Given the description of an element on the screen output the (x, y) to click on. 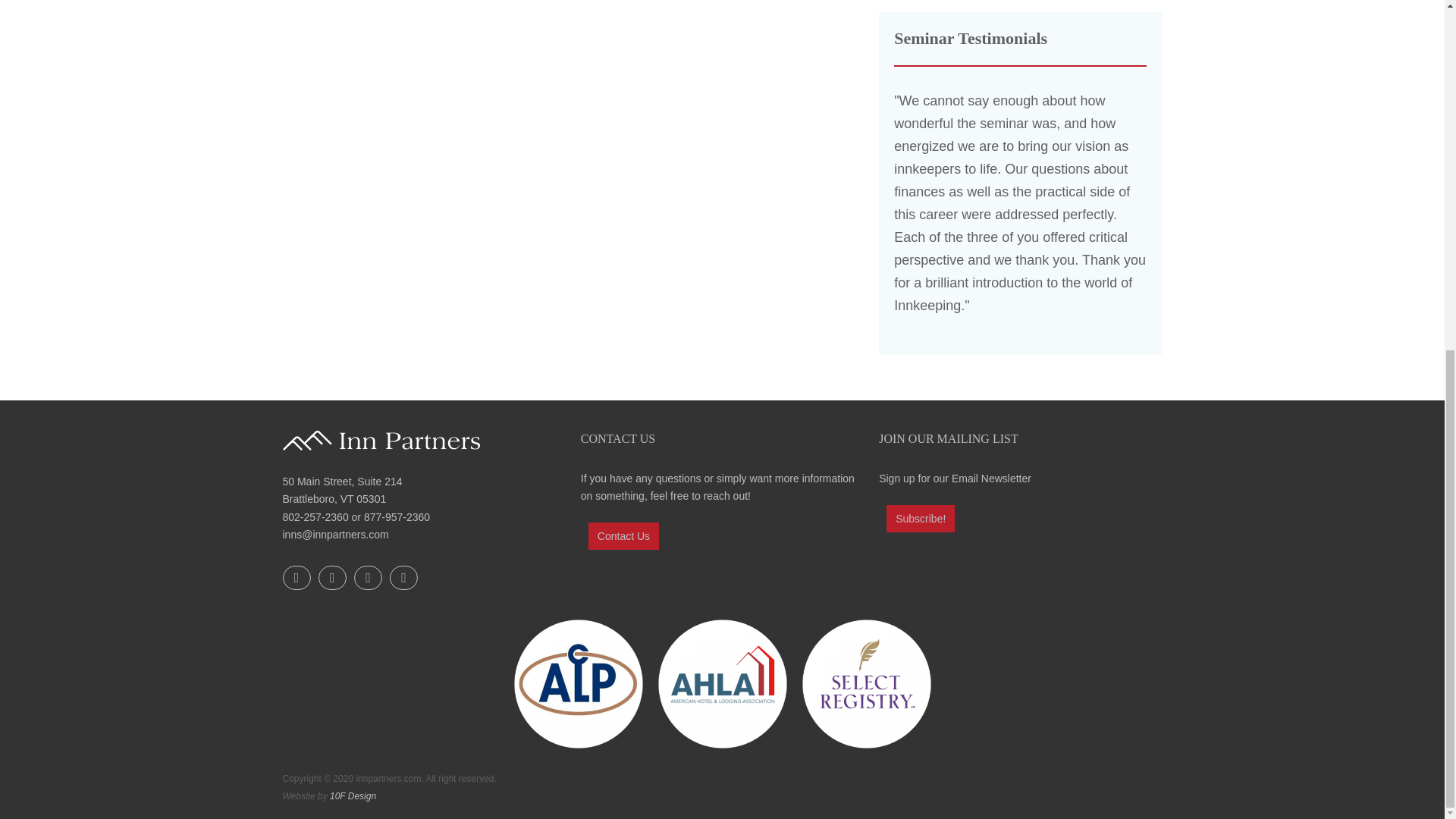
802-257-2360 (314, 517)
877-957-2360 (396, 517)
